Given the description of an element on the screen output the (x, y) to click on. 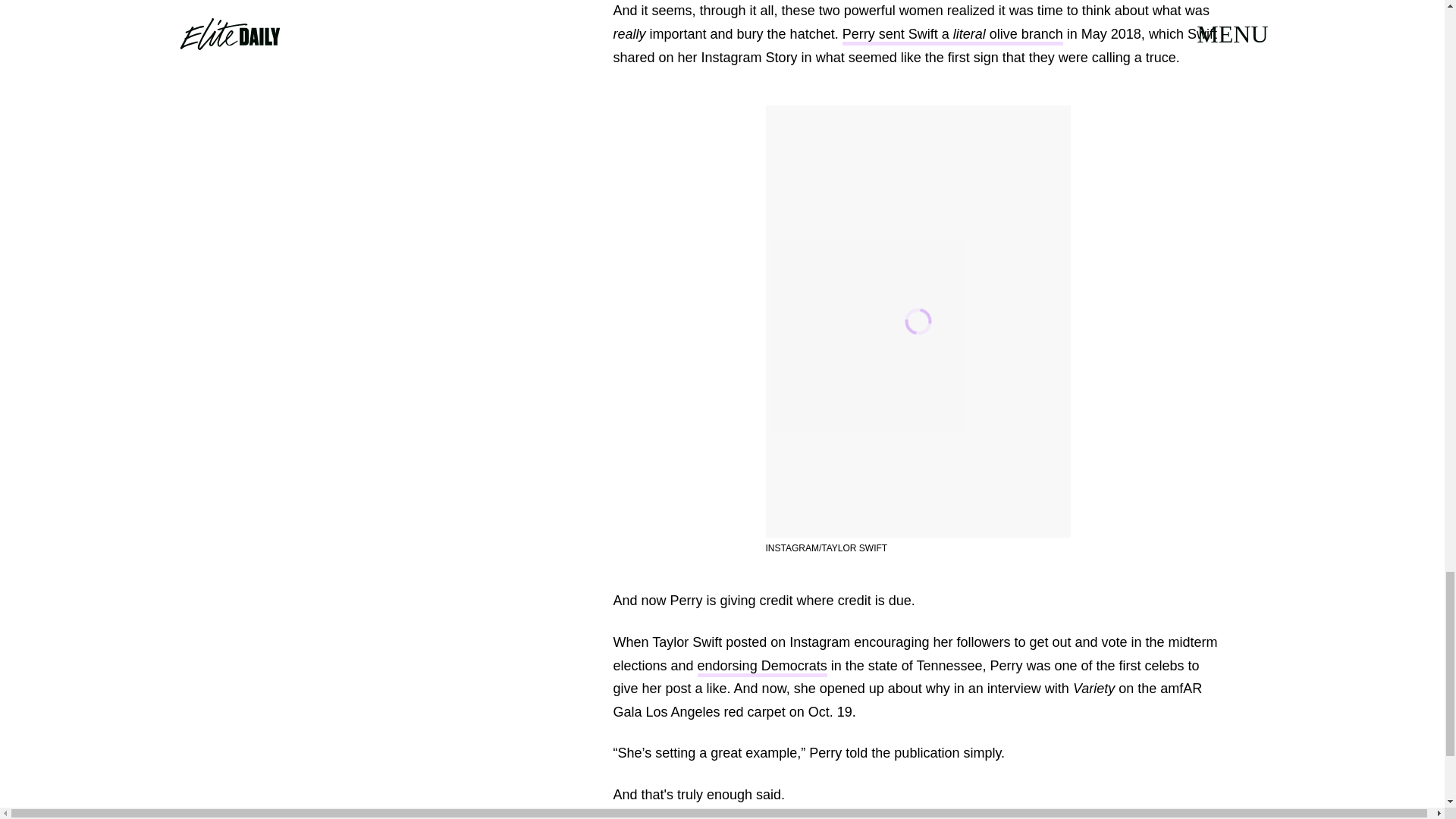
Perry sent Swift a literal olive branch (952, 35)
endorsing Democrats (762, 667)
